Given the description of an element on the screen output the (x, y) to click on. 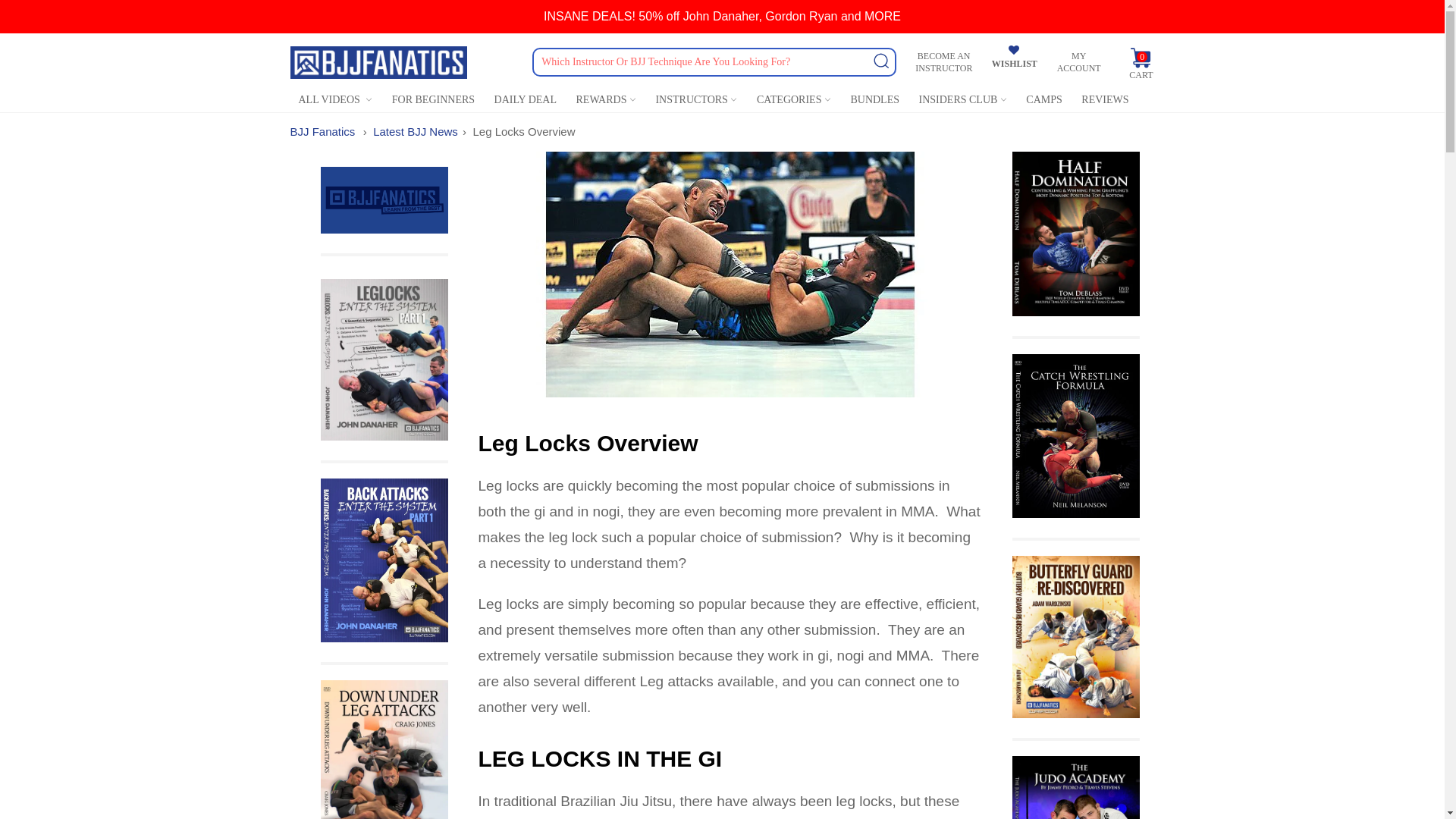
Home (322, 131)
Become An Instructor (943, 62)
